Given the description of an element on the screen output the (x, y) to click on. 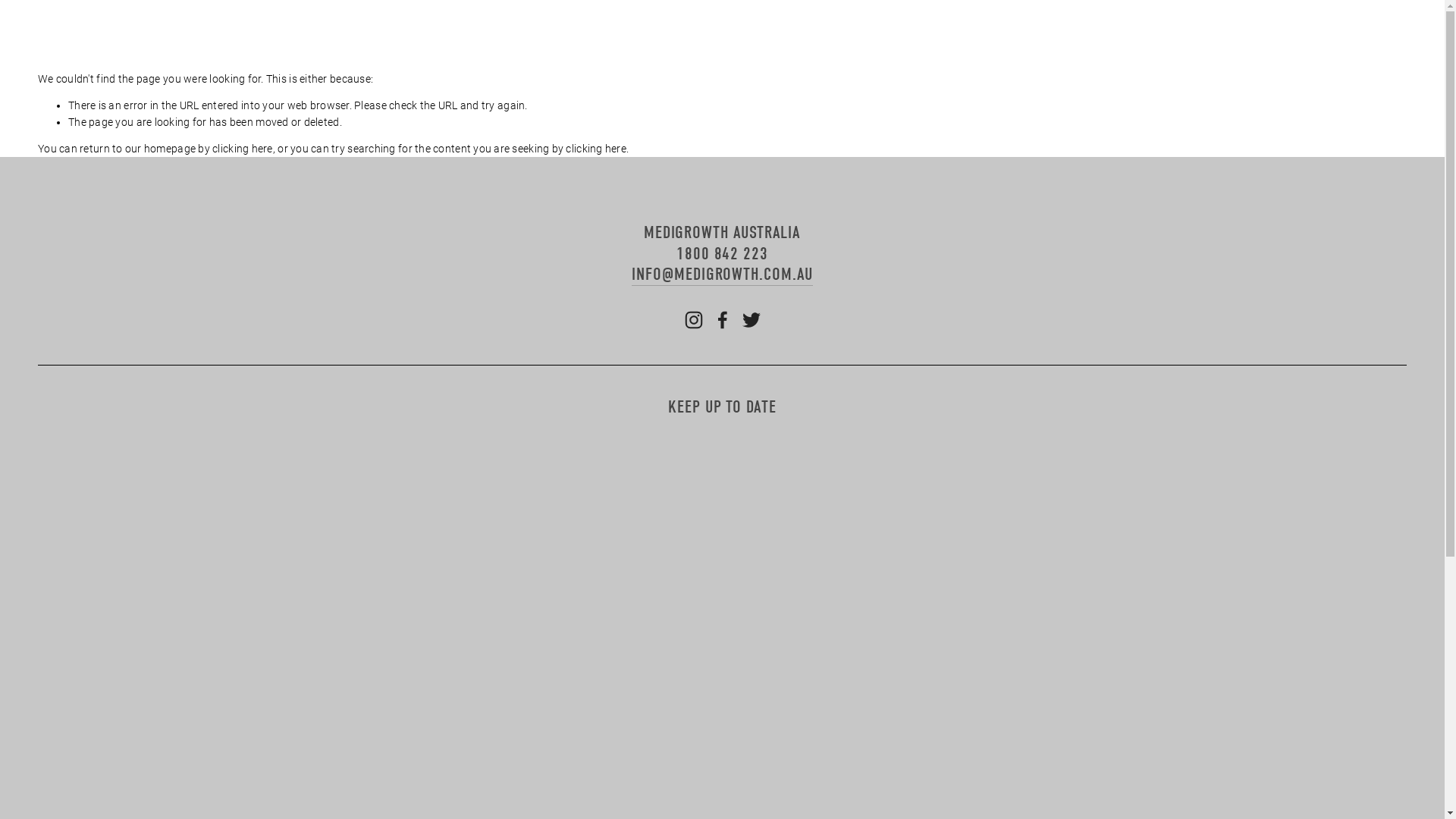
INFO@MEDIGROWTH.COM.AU Element type: text (721, 274)
clicking here Element type: text (242, 148)
clicking here Element type: text (595, 148)
